Given the description of an element on the screen output the (x, y) to click on. 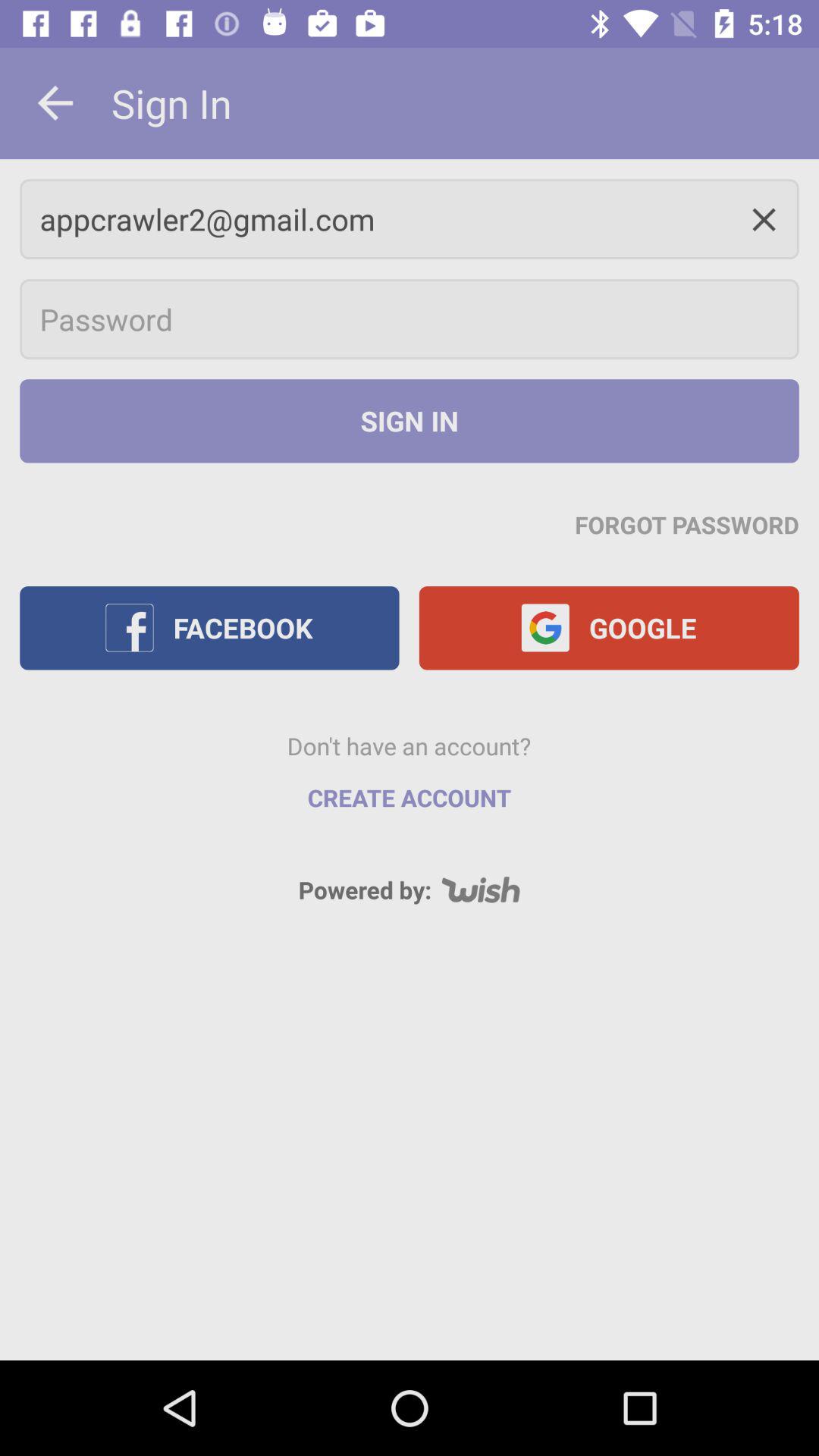
press item below the sign in icon (687, 524)
